Given the description of an element on the screen output the (x, y) to click on. 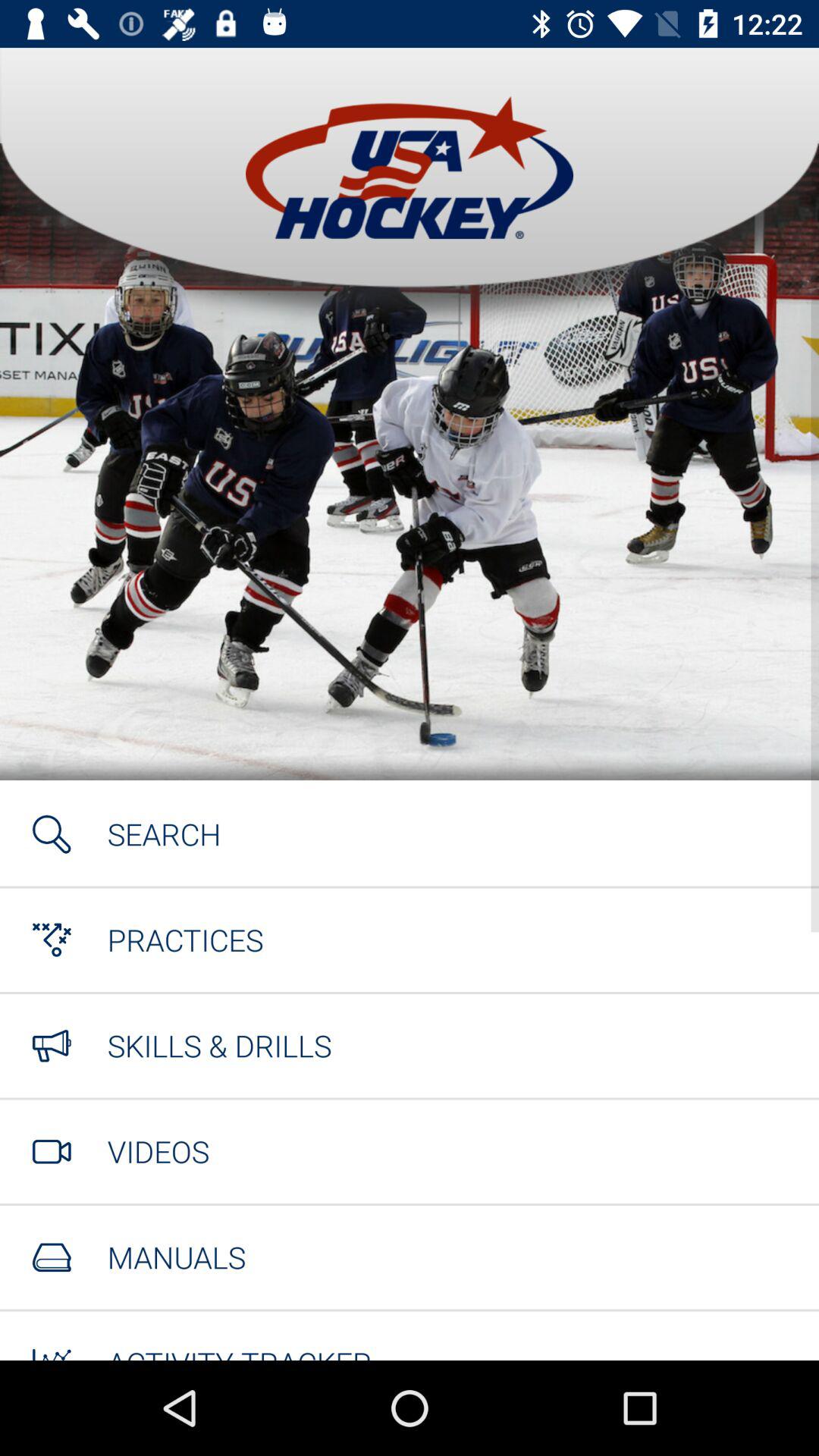
select the item above videos icon (219, 1045)
